Given the description of an element on the screen output the (x, y) to click on. 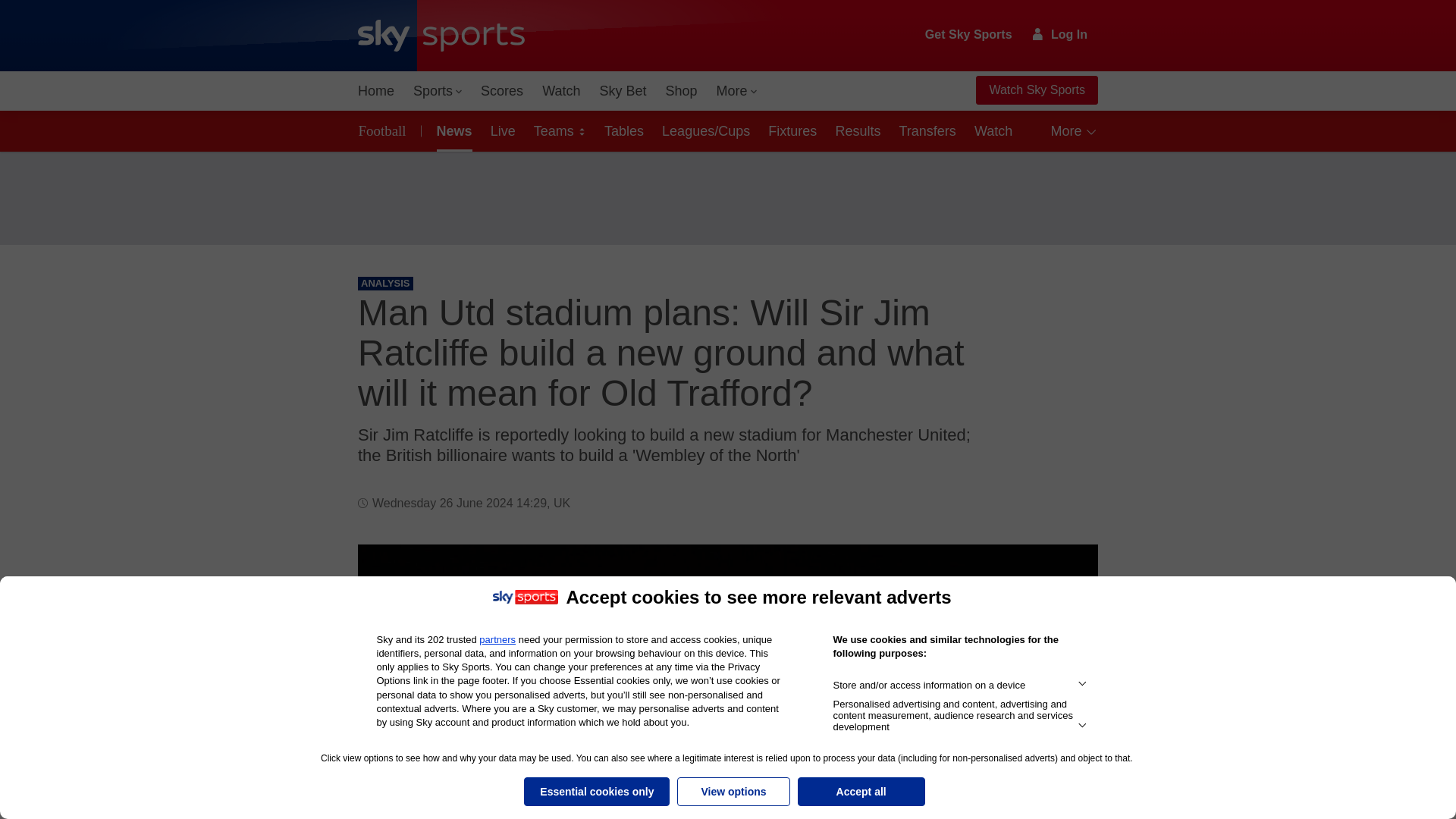
Share (1067, 574)
Home (375, 91)
Log In (1060, 33)
Get Sky Sports (968, 34)
Sky Bet (622, 91)
Football (385, 130)
Shop (681, 91)
Watch Sky Sports (1036, 90)
Sports (437, 91)
Scores (502, 91)
Watch (561, 91)
More (736, 91)
News (451, 130)
